Given the description of an element on the screen output the (x, y) to click on. 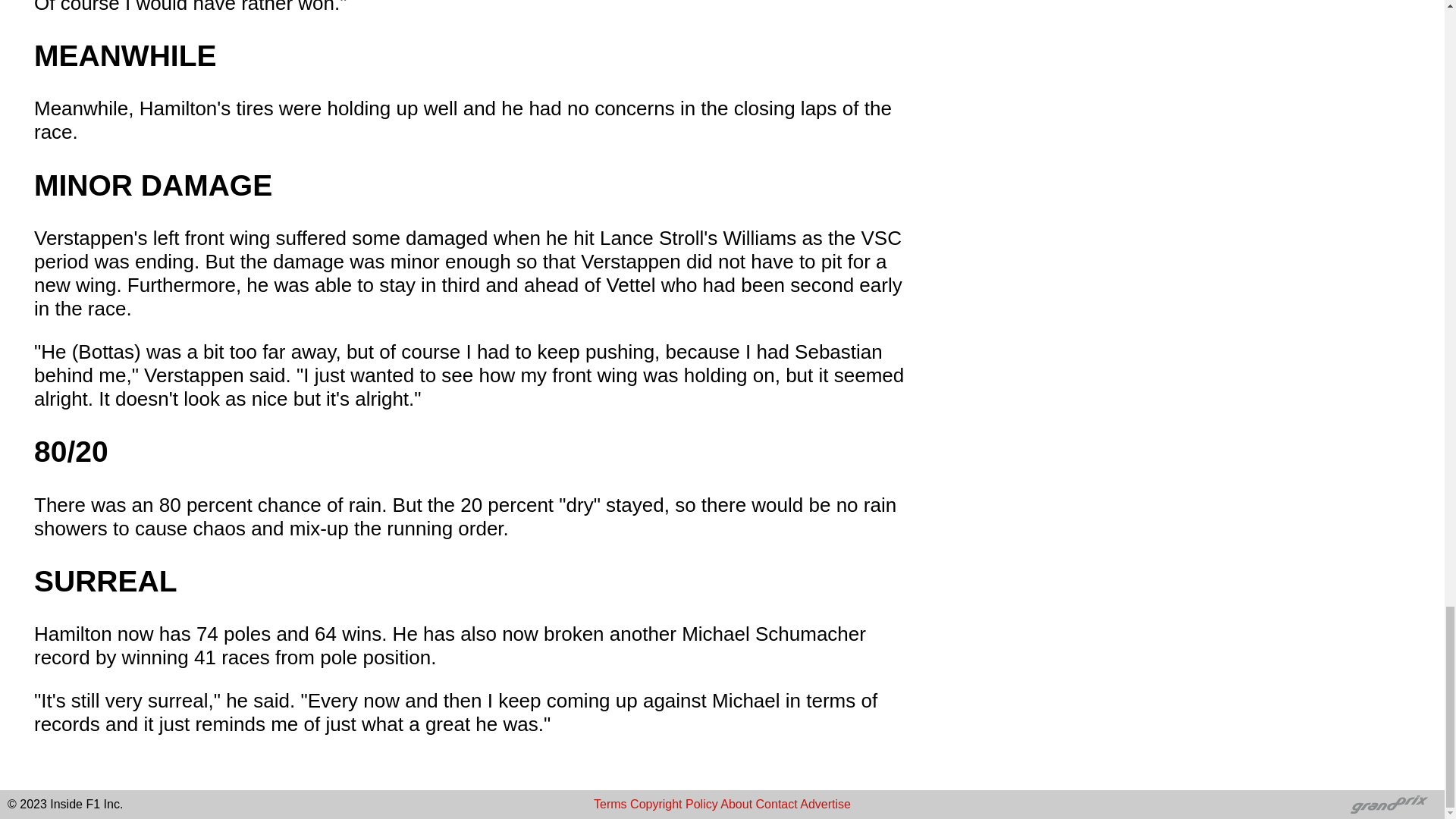
Copyright (655, 803)
Contact (776, 803)
Advertise (824, 803)
Policy (701, 803)
About (736, 803)
Terms (610, 803)
